Given the description of an element on the screen output the (x, y) to click on. 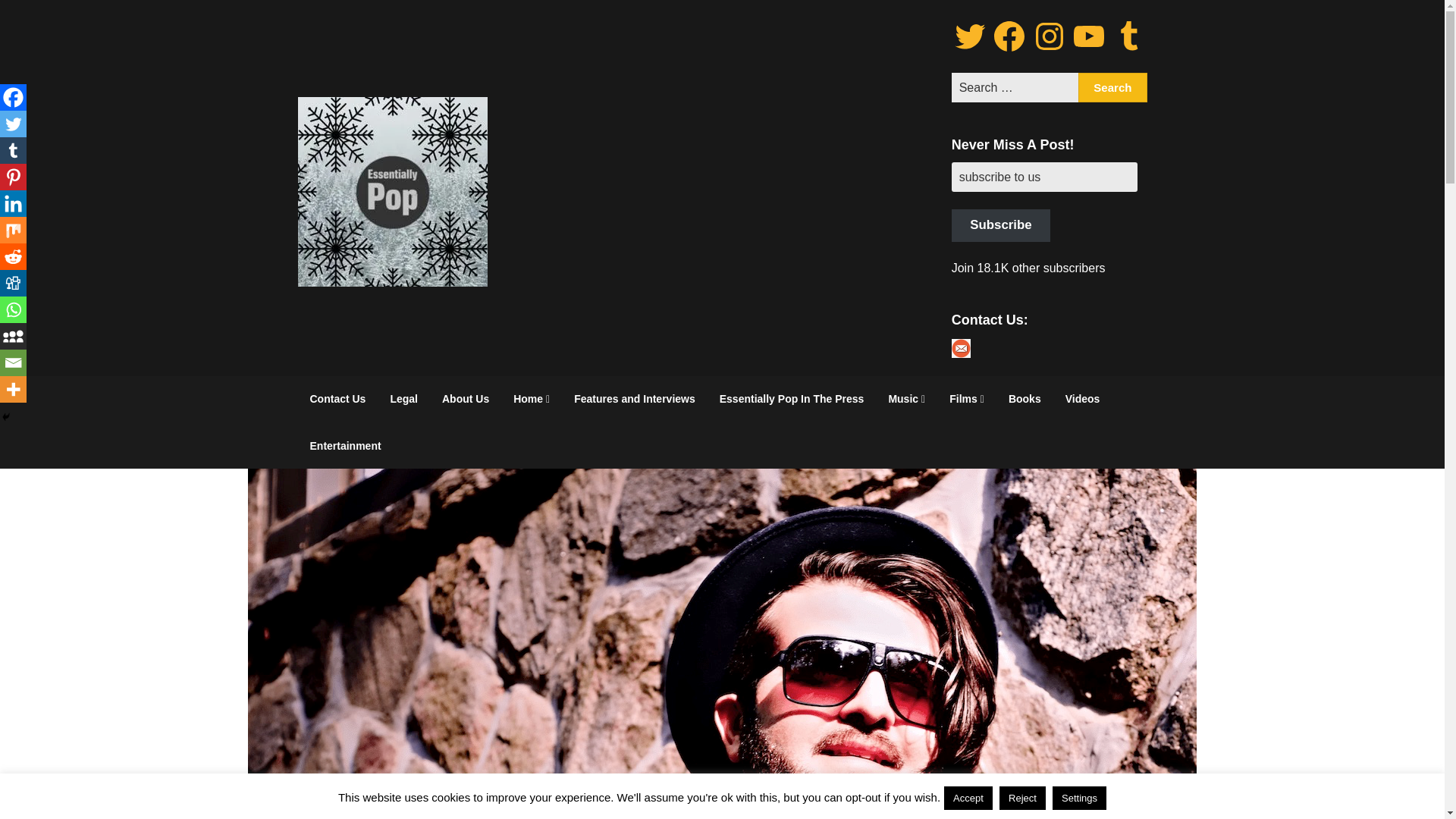
Facebook (1009, 36)
Subscribe (1000, 225)
Home (531, 398)
Features and Interviews (634, 398)
Music (906, 398)
Contact Us (337, 398)
Videos (1082, 398)
Books (1023, 398)
Search (1112, 87)
Search (1112, 87)
Legal (403, 398)
Films (966, 398)
Search (1112, 87)
Instagram (1048, 36)
Entertainment (345, 445)
